Given the description of an element on the screen output the (x, y) to click on. 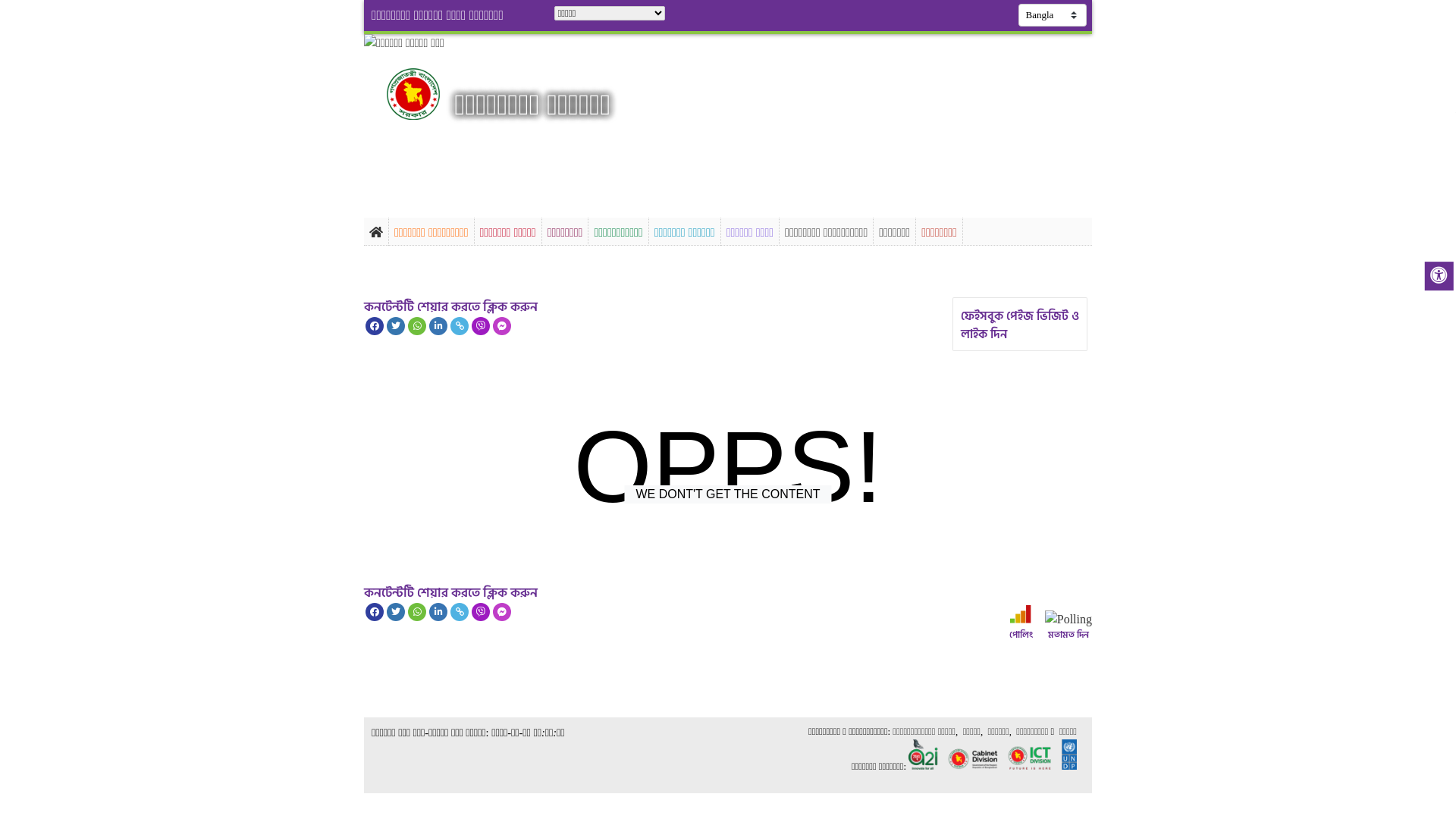

                
             Element type: hover (426, 93)
